Given the description of an element on the screen output the (x, y) to click on. 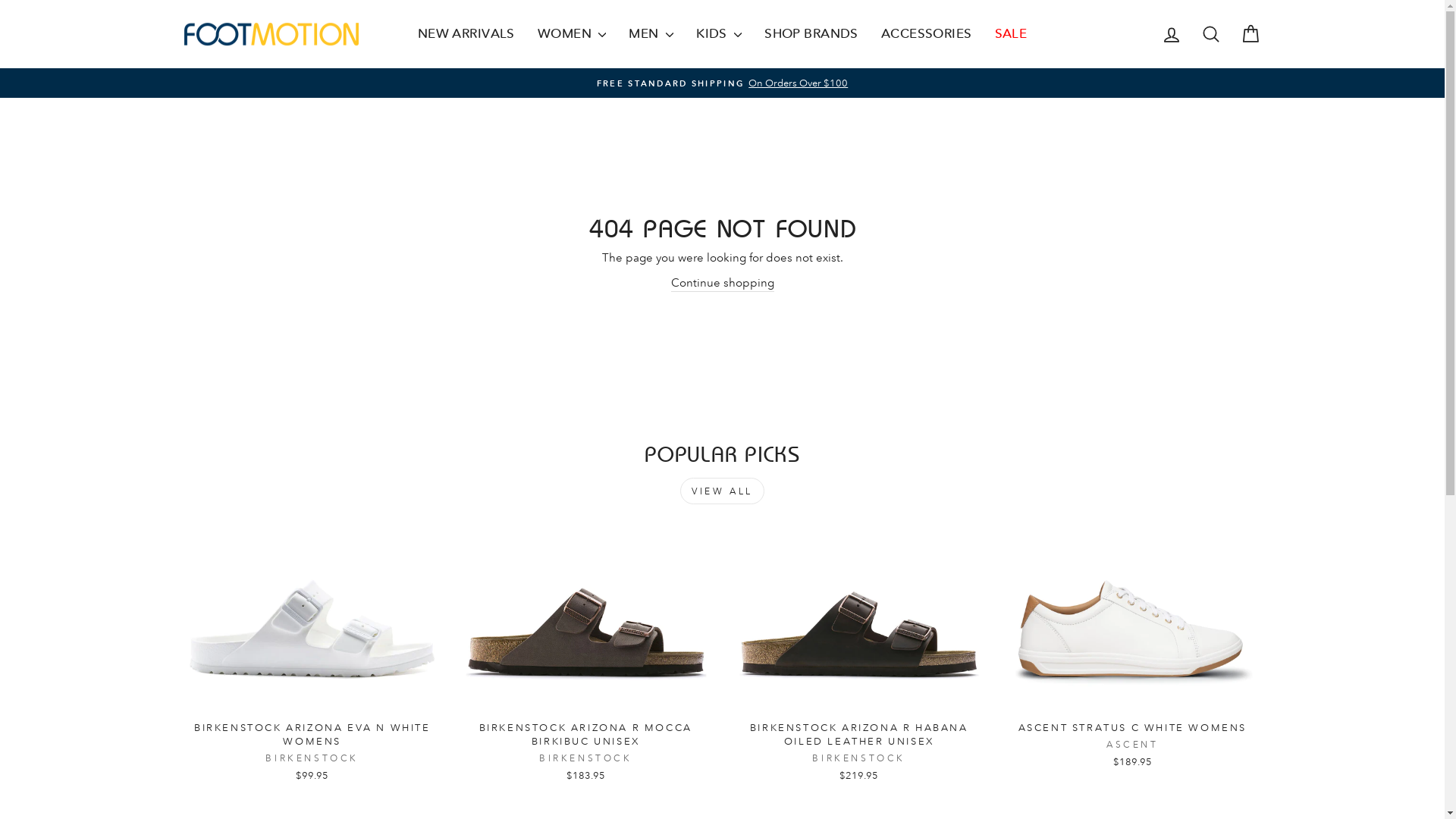
ACCESSORIES Element type: text (926, 33)
ACCOUNT
LOG IN Element type: text (1170, 33)
NEW ARRIVALS Element type: text (466, 33)
FREE STANDARD SHIPPINGOn Orders Over $100 Element type: text (722, 82)
CART Element type: text (1249, 33)
SALE Element type: text (1010, 33)
SHOP BRANDS Element type: text (811, 33)
VIEW ALL Element type: text (722, 490)
Continue shopping Element type: text (721, 283)
ICON-SEARCH
SEARCH Element type: text (1210, 33)
